Given the description of an element on the screen output the (x, y) to click on. 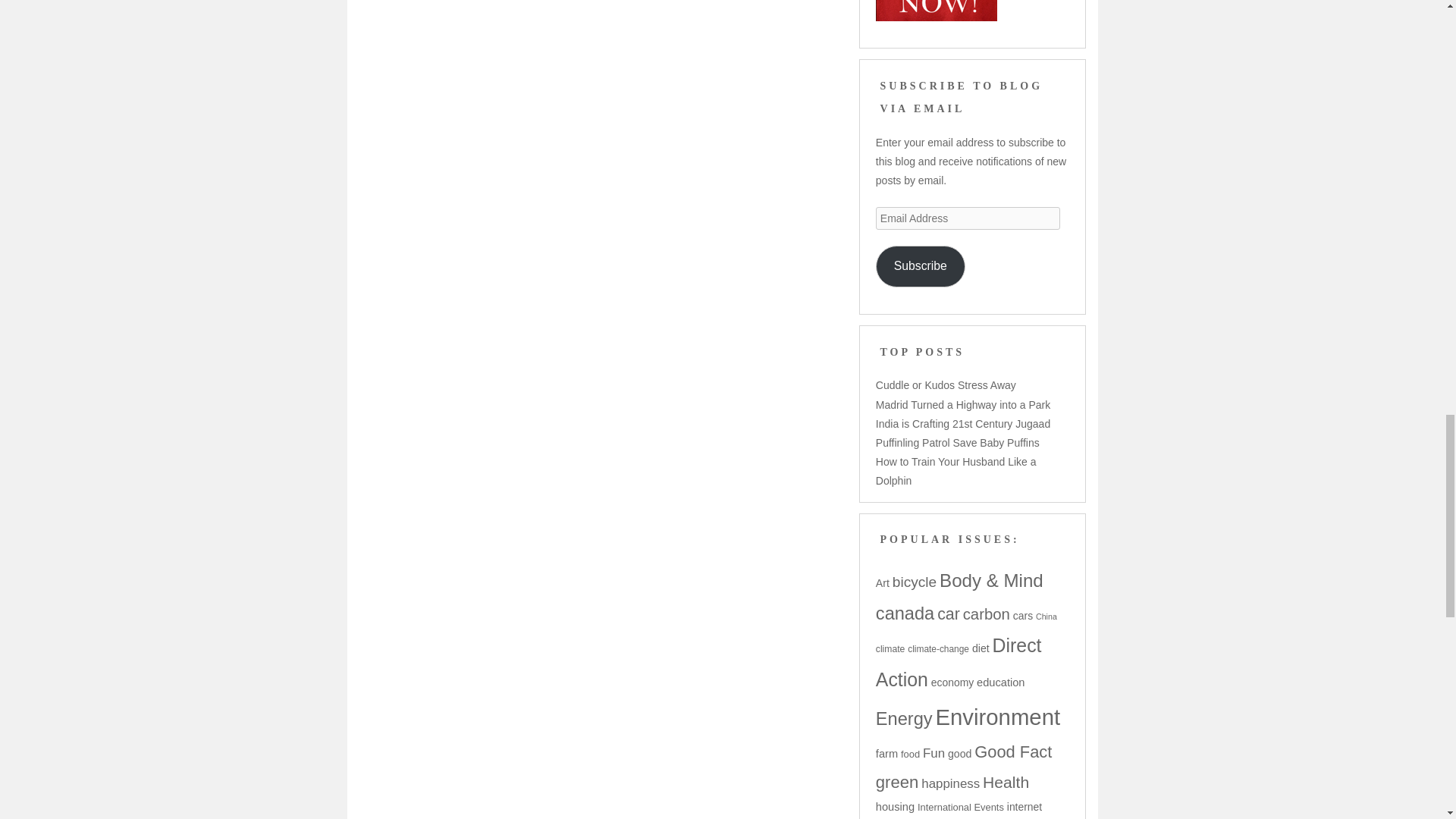
Madrid Turned a Highway into a Park (962, 404)
Subscribe (920, 266)
Puffinling Patrol Save Baby Puffins (957, 442)
India is Crafting 21st Century Jugaad (962, 423)
Cuddle or Kudos Stress Away (946, 385)
